Given the description of an element on the screen output the (x, y) to click on. 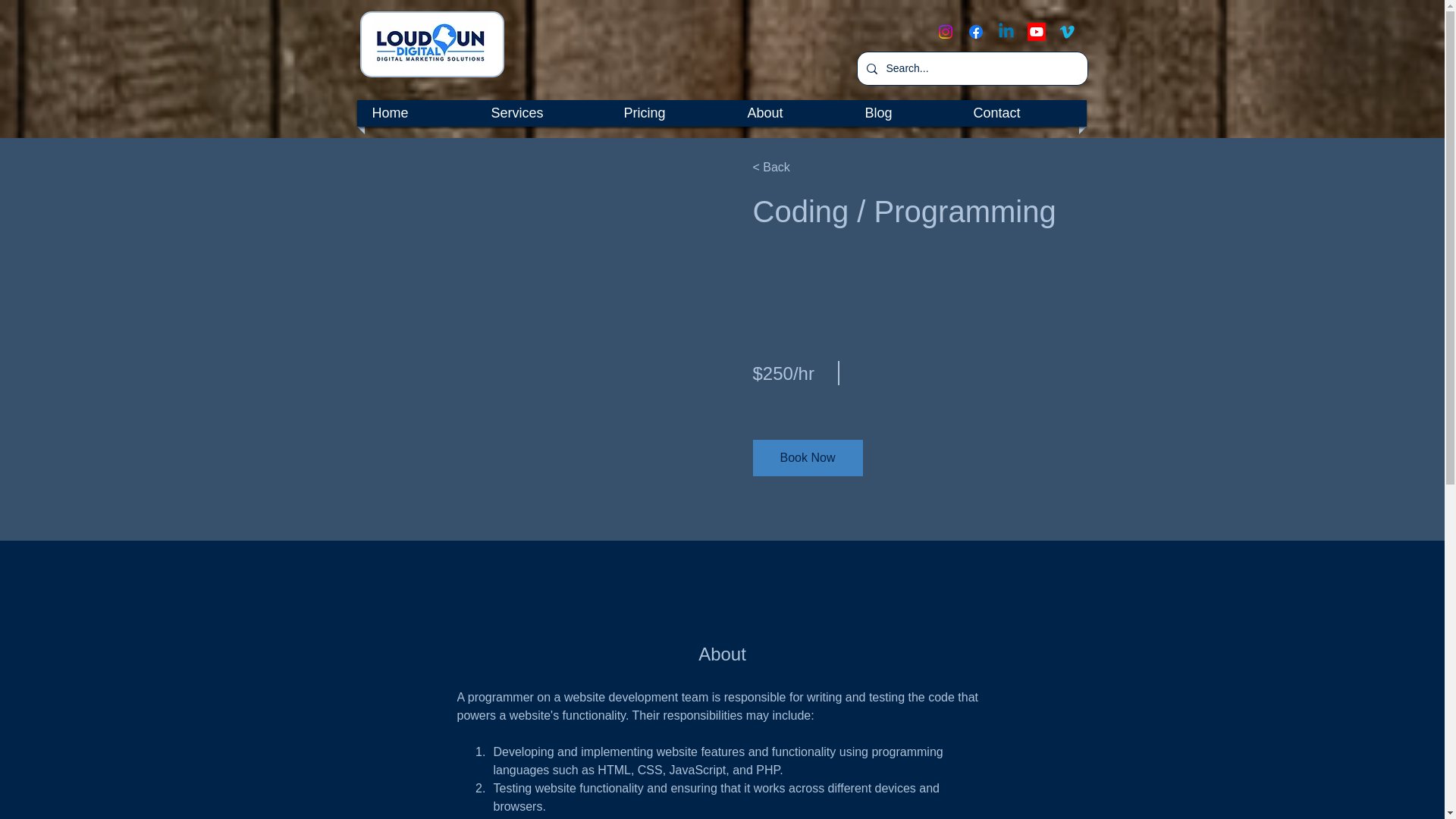
Home (416, 112)
About (790, 112)
Click here to navigate to the home page. (429, 43)
Blog (904, 112)
Pricing (670, 112)
Contact (1020, 112)
